Given the description of an element on the screen output the (x, y) to click on. 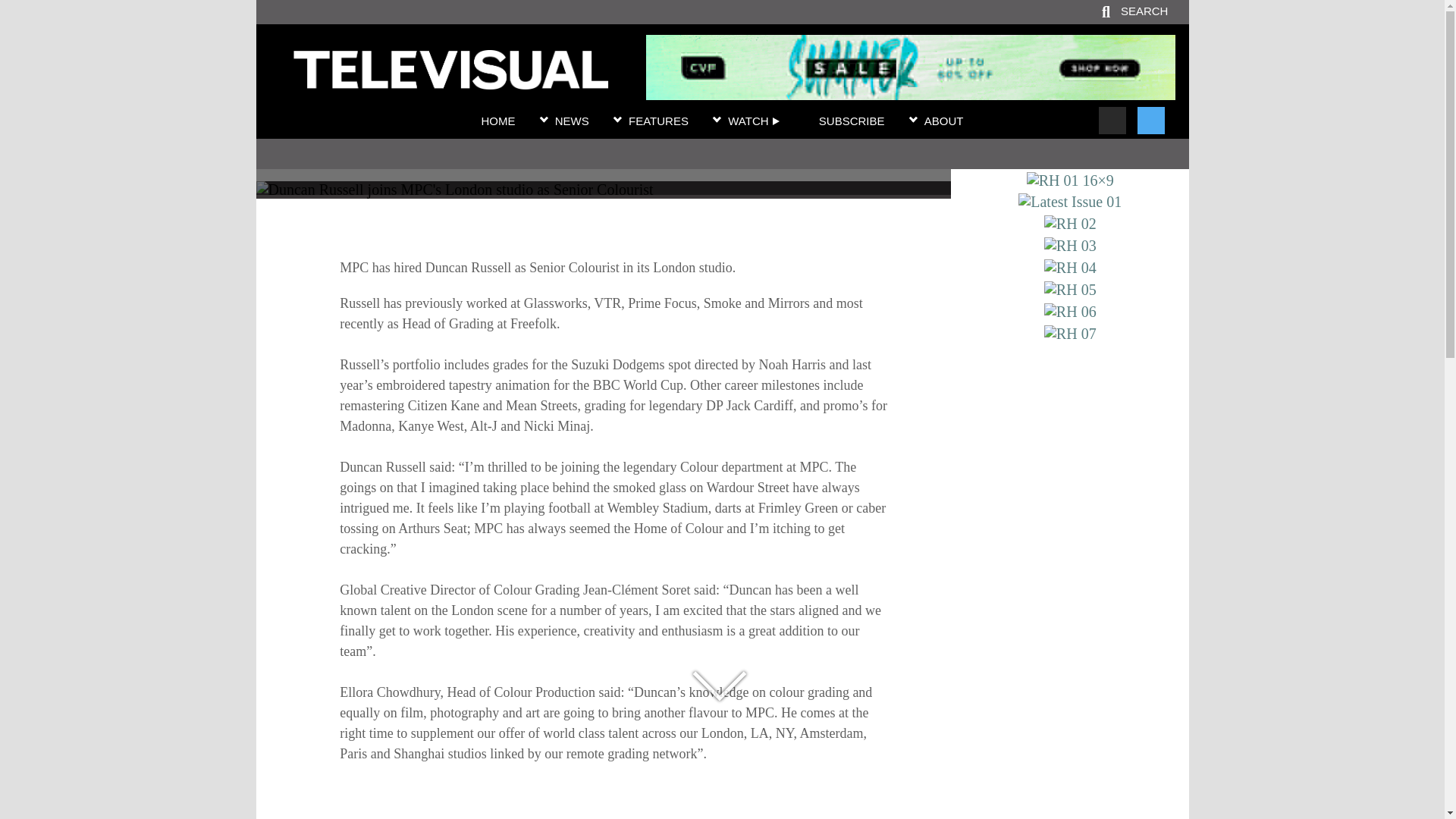
Duncan Russell joins MPC's London studio as Senior Colourist (603, 141)
FEATURES (658, 121)
HOME (497, 121)
ABOUT (943, 121)
SUBSCRIBE (851, 121)
WATCH (753, 121)
NEWS (571, 121)
